Given the description of an element on the screen output the (x, y) to click on. 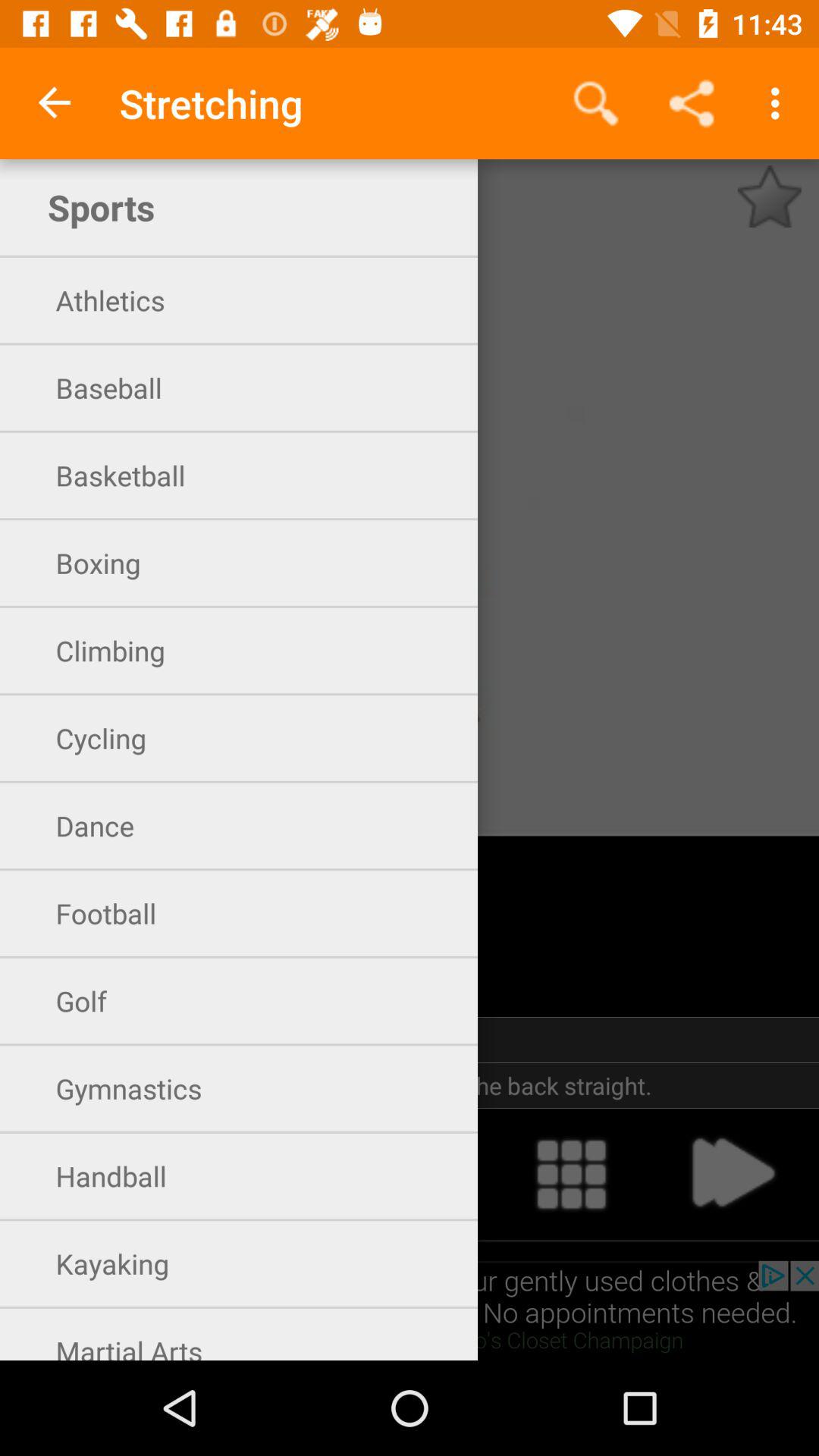
go forward (731, 1174)
